Given the description of an element on the screen output the (x, y) to click on. 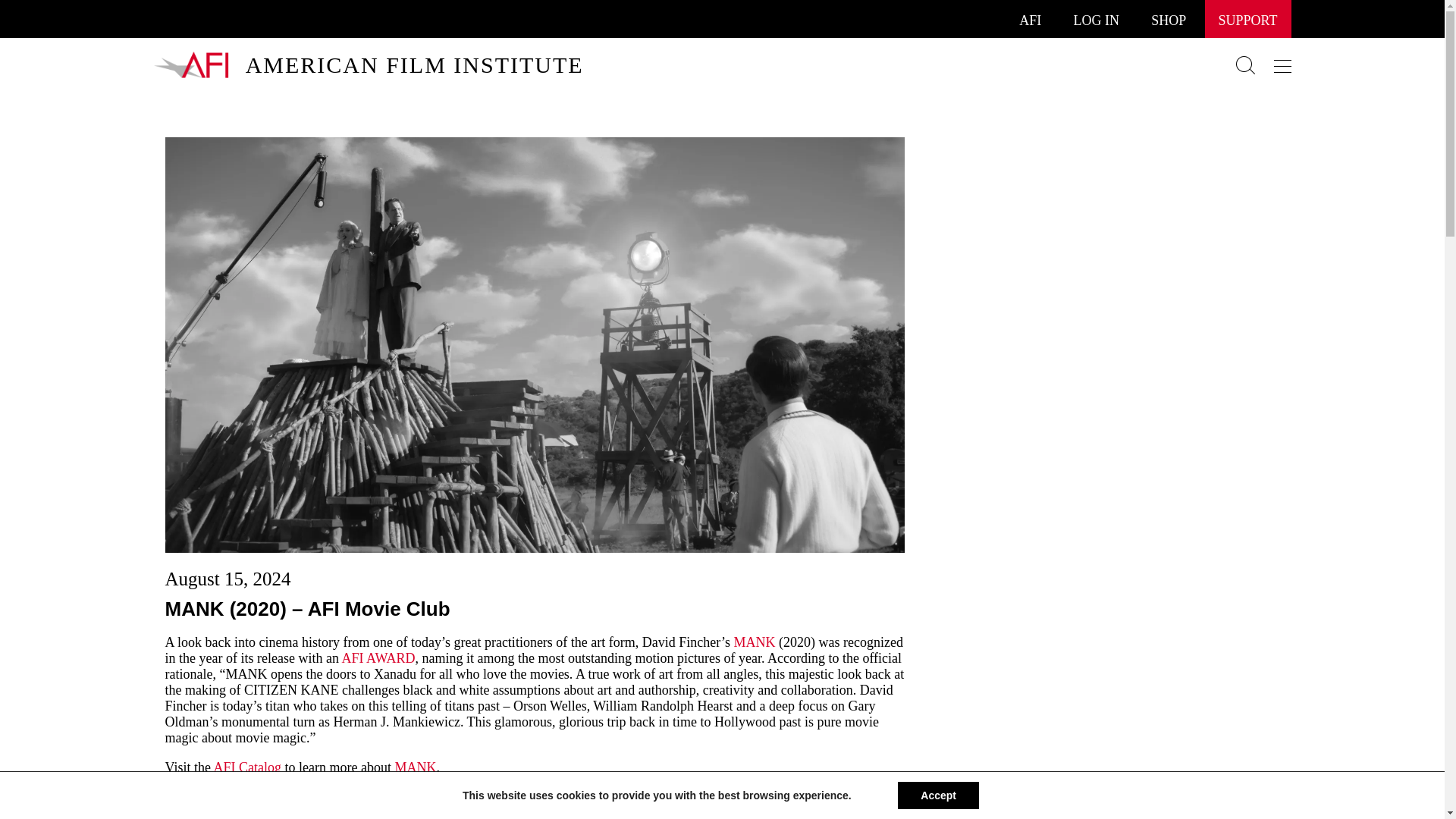
LOG IN (1096, 20)
AFI (1030, 20)
SUPPORT (1248, 20)
SHOP (1168, 20)
